Given the description of an element on the screen output the (x, y) to click on. 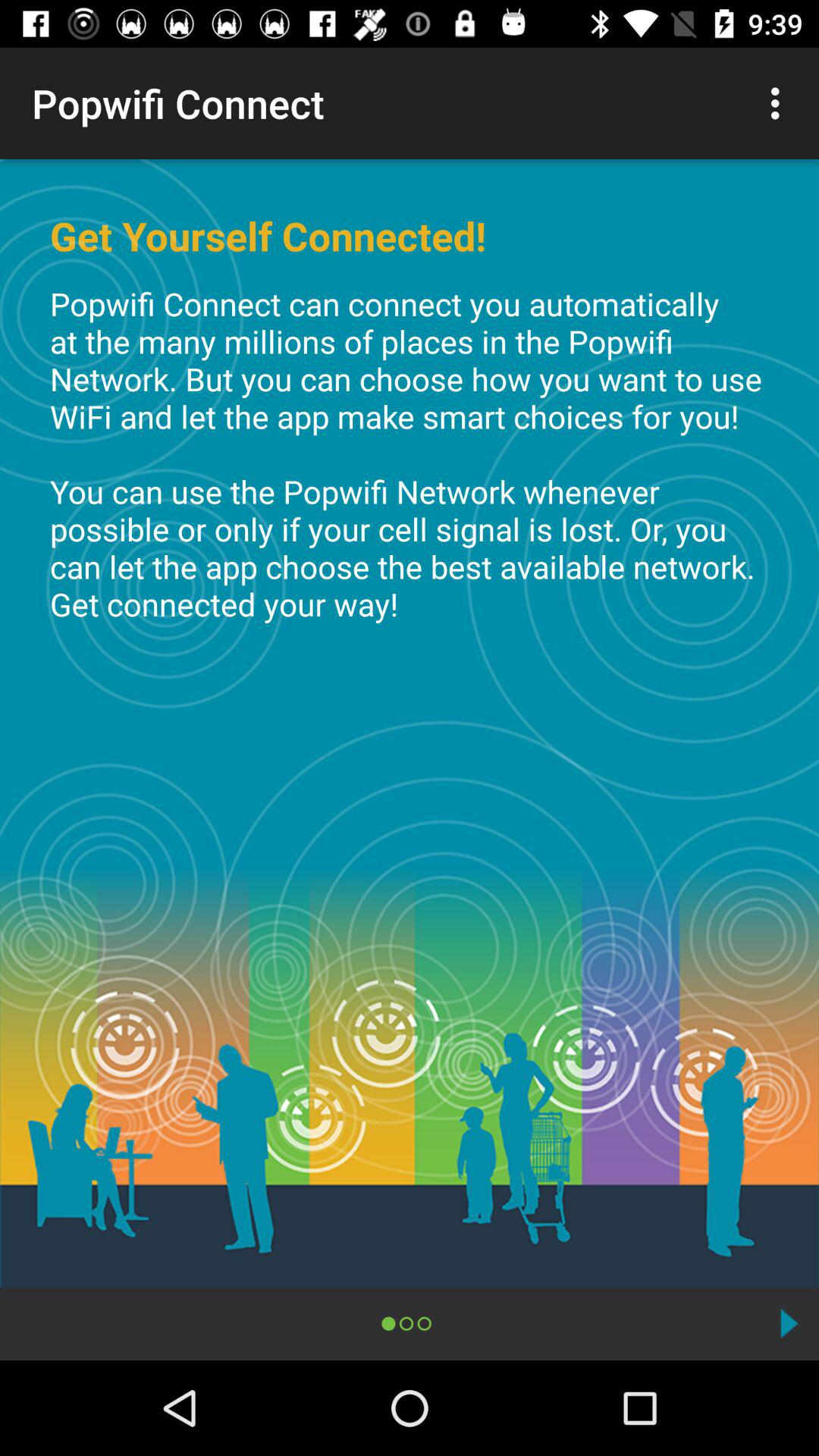
turn on the icon at the bottom right corner (789, 1323)
